Given the description of an element on the screen output the (x, y) to click on. 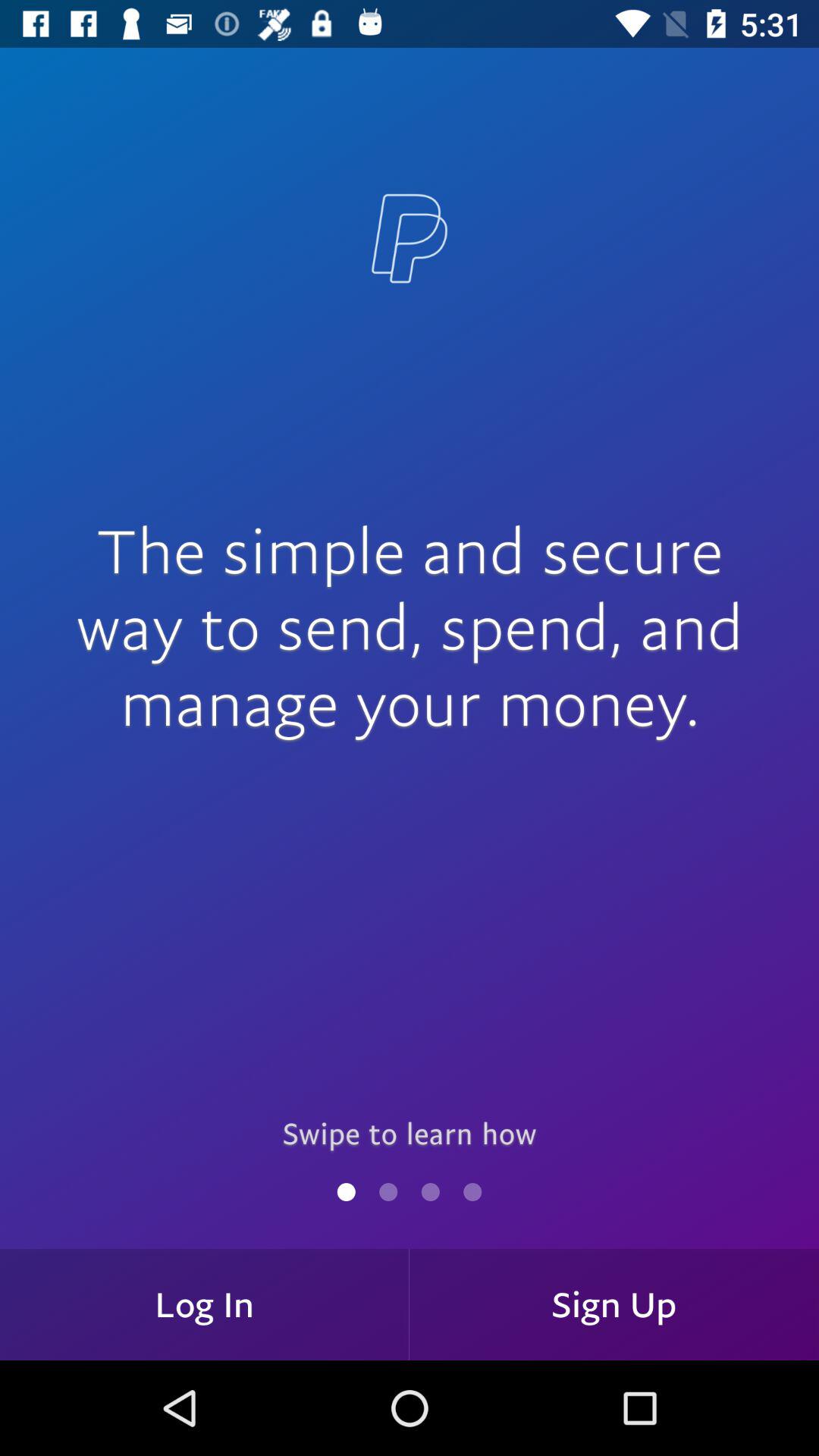
select the log in at the bottom left corner (204, 1304)
